Given the description of an element on the screen output the (x, y) to click on. 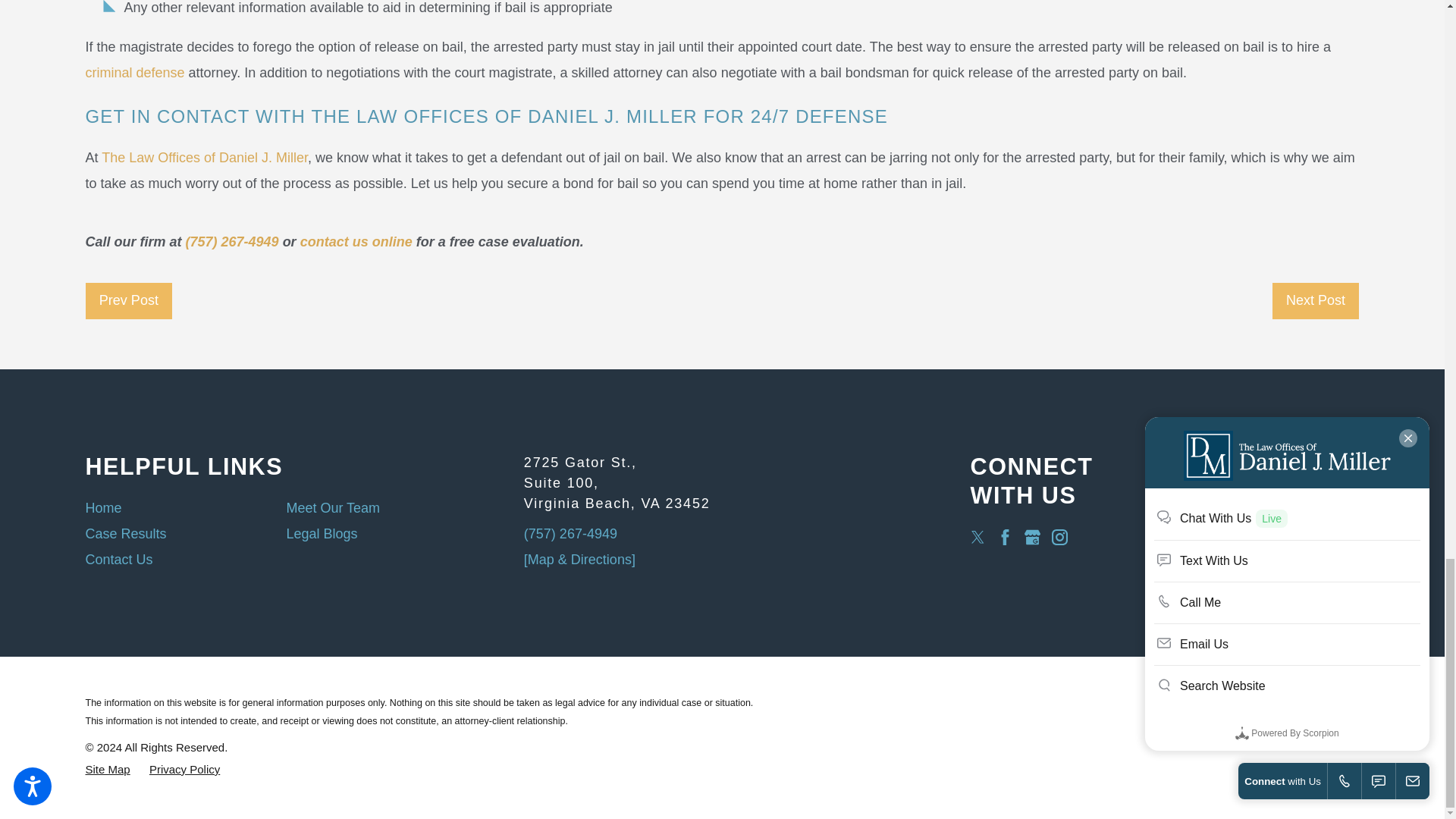
Instagram (1059, 537)
Facebook (1005, 537)
Twitter (977, 537)
Google Business Profile (1033, 537)
